Given the description of an element on the screen output the (x, y) to click on. 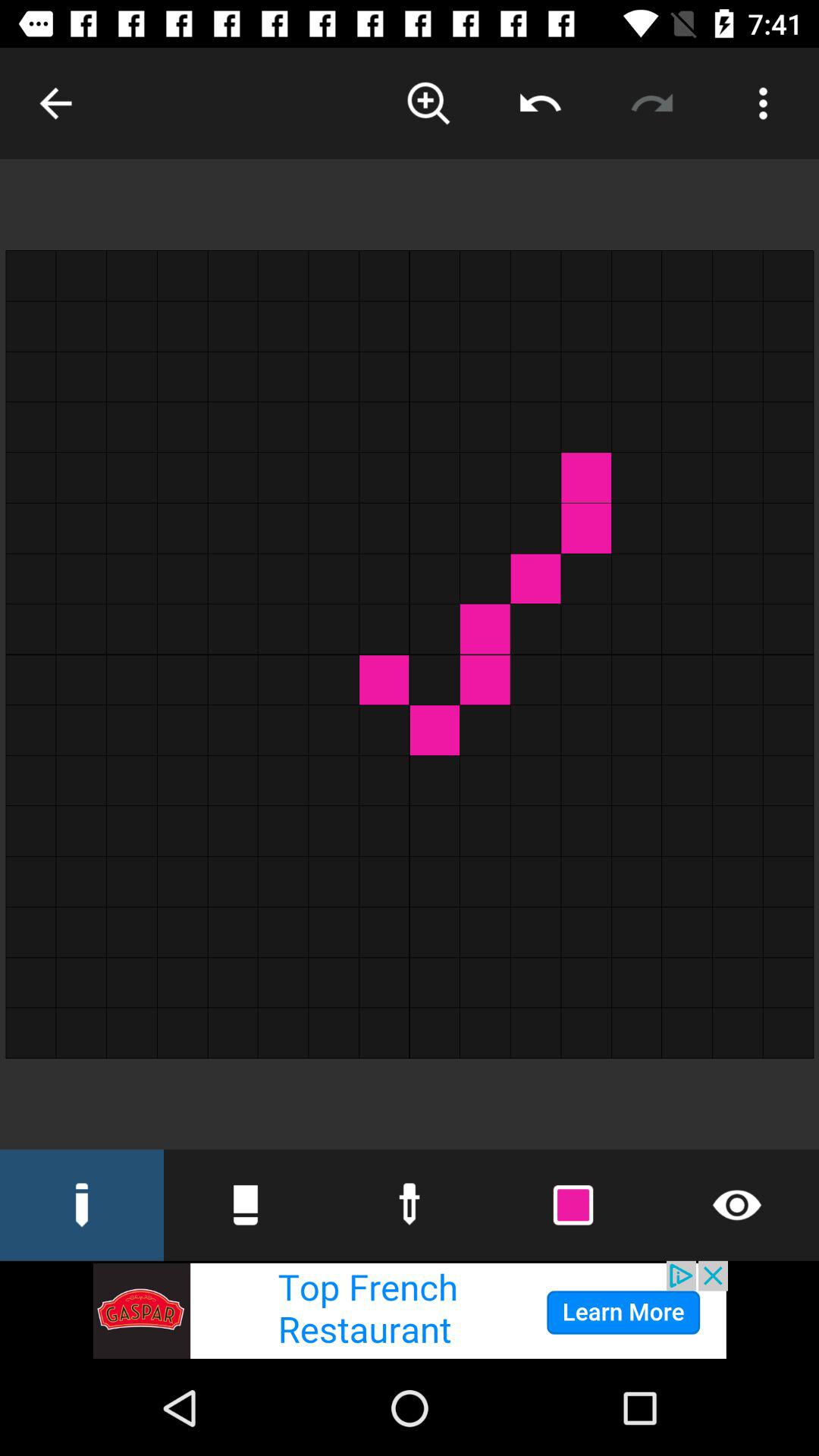
advertisement page (409, 1310)
